Given the description of an element on the screen output the (x, y) to click on. 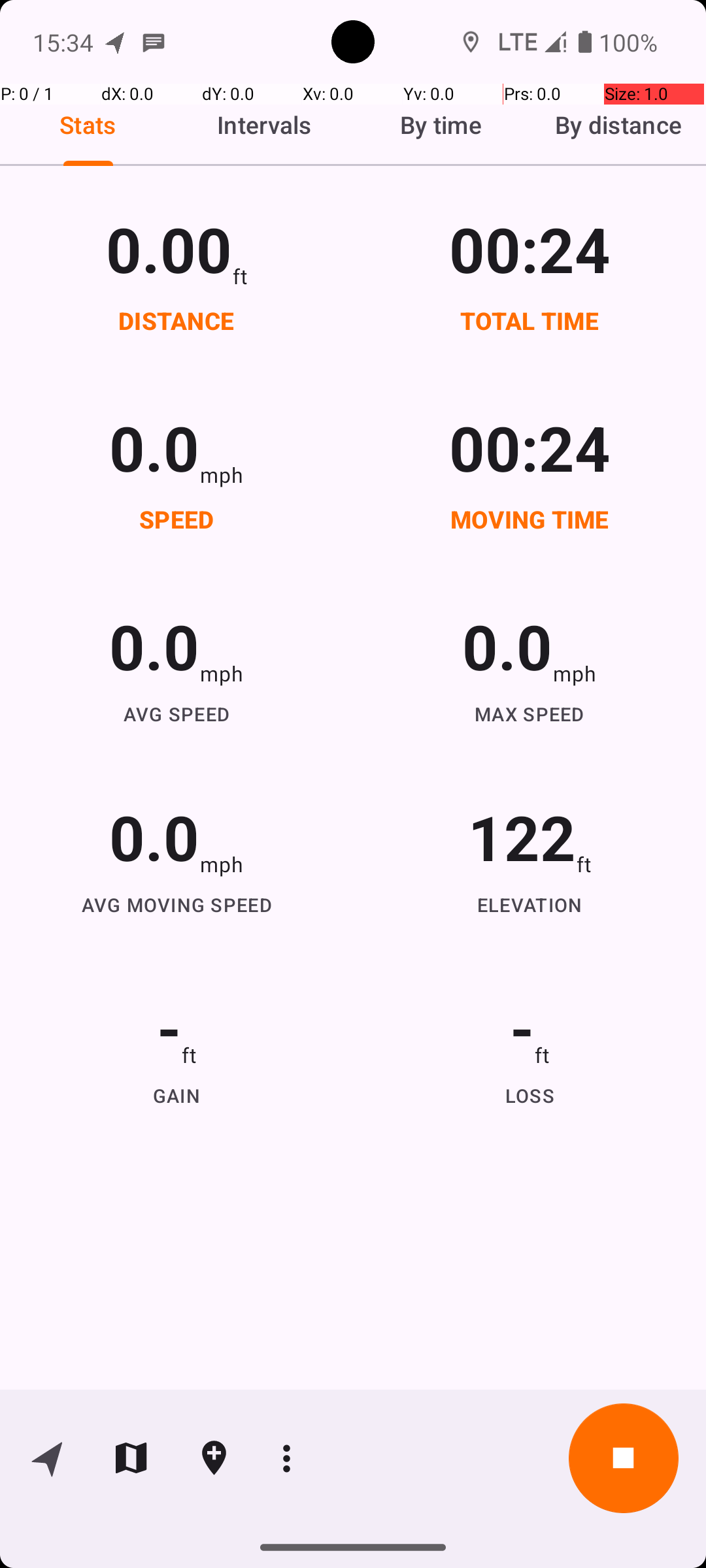
0.00 Element type: android.widget.TextView (168, 248)
00:24 Element type: android.widget.TextView (529, 248)
122 Element type: android.widget.TextView (521, 836)
